Given the description of an element on the screen output the (x, y) to click on. 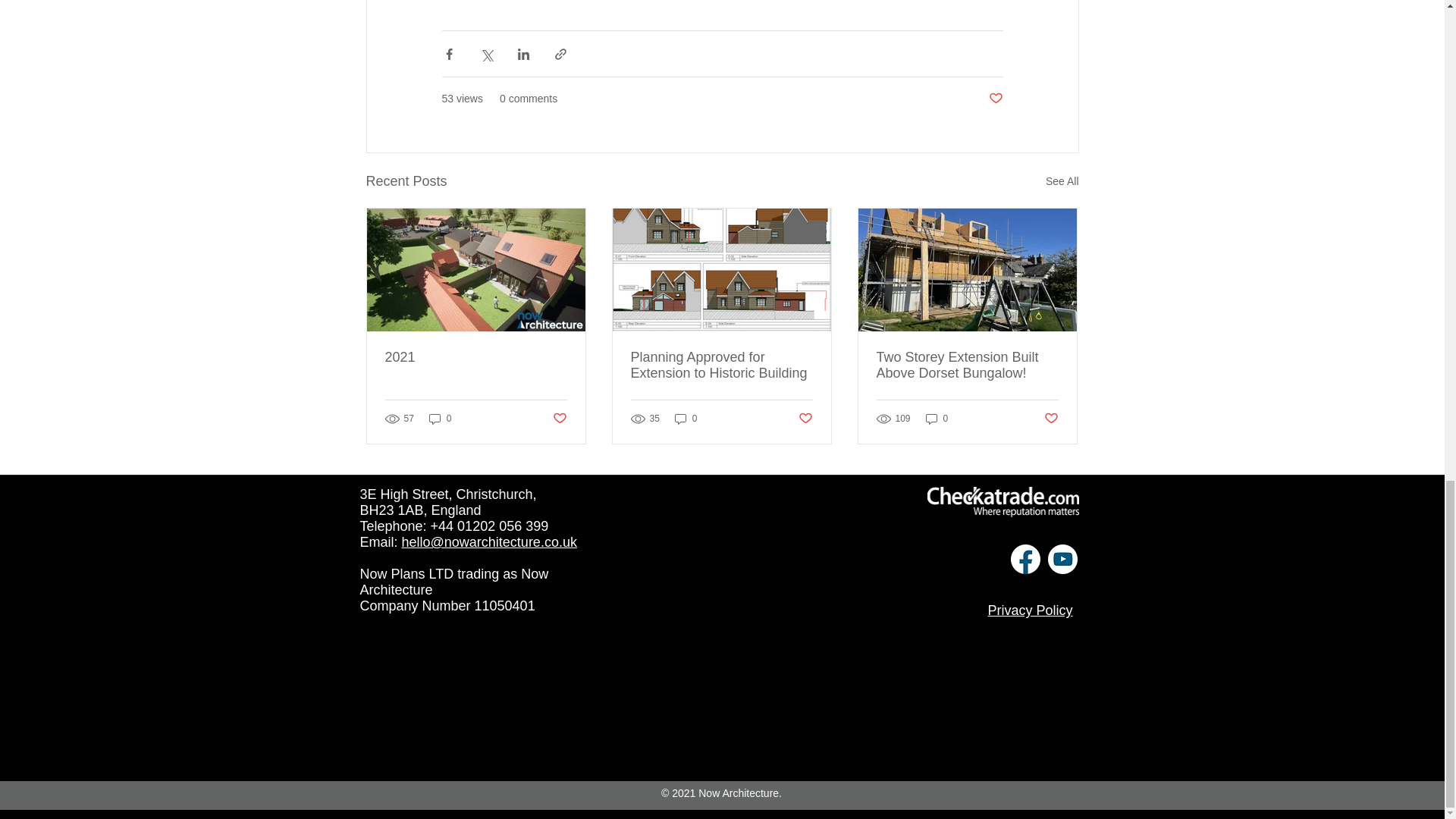
0 (685, 418)
Post not marked as liked (995, 98)
0 (937, 418)
0 (440, 418)
Post not marked as liked (558, 418)
See All (1061, 181)
Post not marked as liked (804, 418)
2021 (476, 357)
Privacy Policy (1029, 610)
Post not marked as liked (1050, 418)
